Given the description of an element on the screen output the (x, y) to click on. 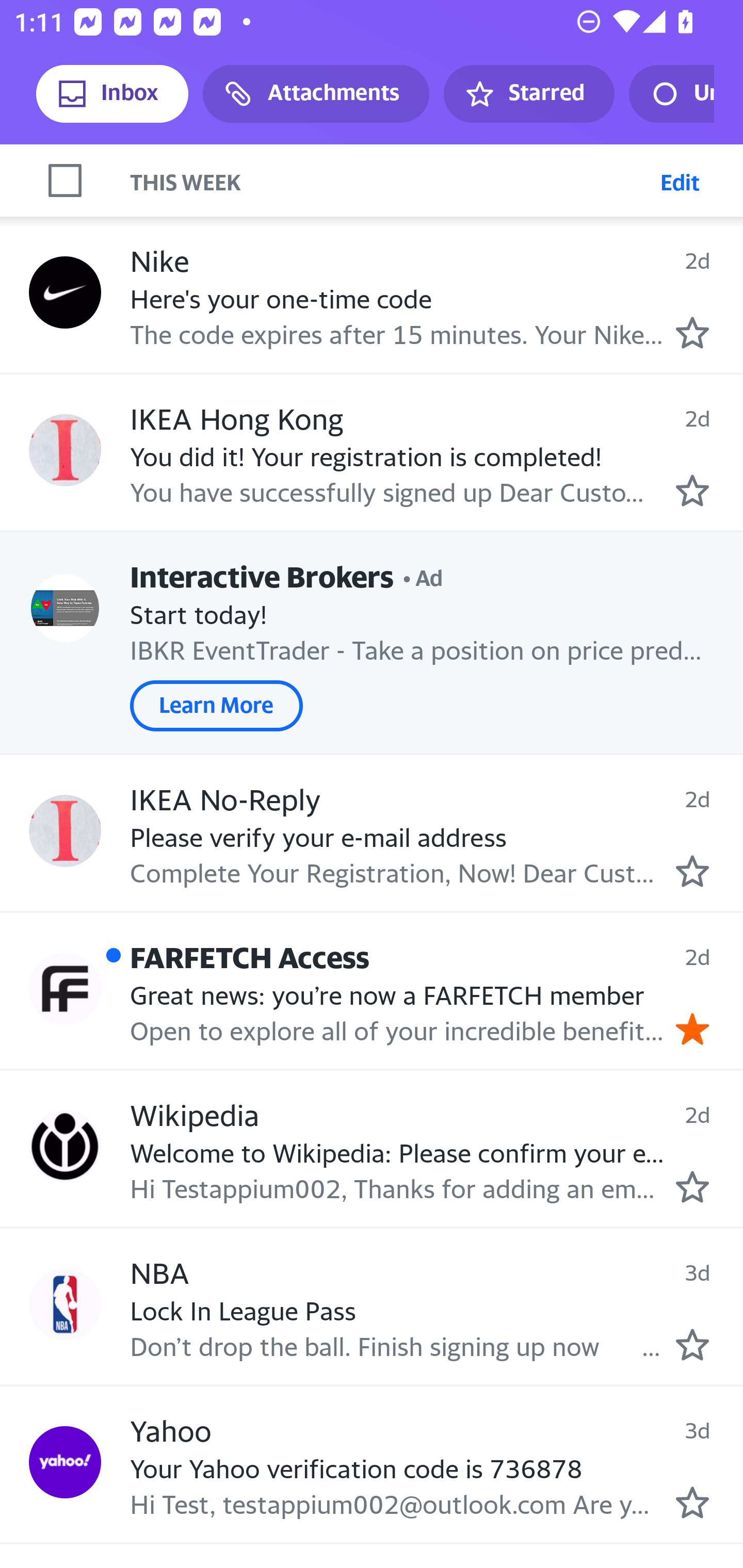
Attachments (315, 93)
Starred (528, 93)
Profile
Nike (64, 292)
Mark as starred. (692, 333)
Profile
IKEA Hong Kong (64, 449)
Mark as starred. (692, 489)
Profile
IKEA No-Reply (64, 830)
Mark as starred. (692, 870)
Profile
FARFETCH Access (64, 989)
Remove star. (692, 1029)
Profile
Wikipedia (64, 1146)
Mark as starred. (692, 1186)
Profile
NBA (64, 1304)
Mark as starred. (692, 1344)
Profile
Yahoo (64, 1462)
Mark as starred. (692, 1502)
